Given the description of an element on the screen output the (x, y) to click on. 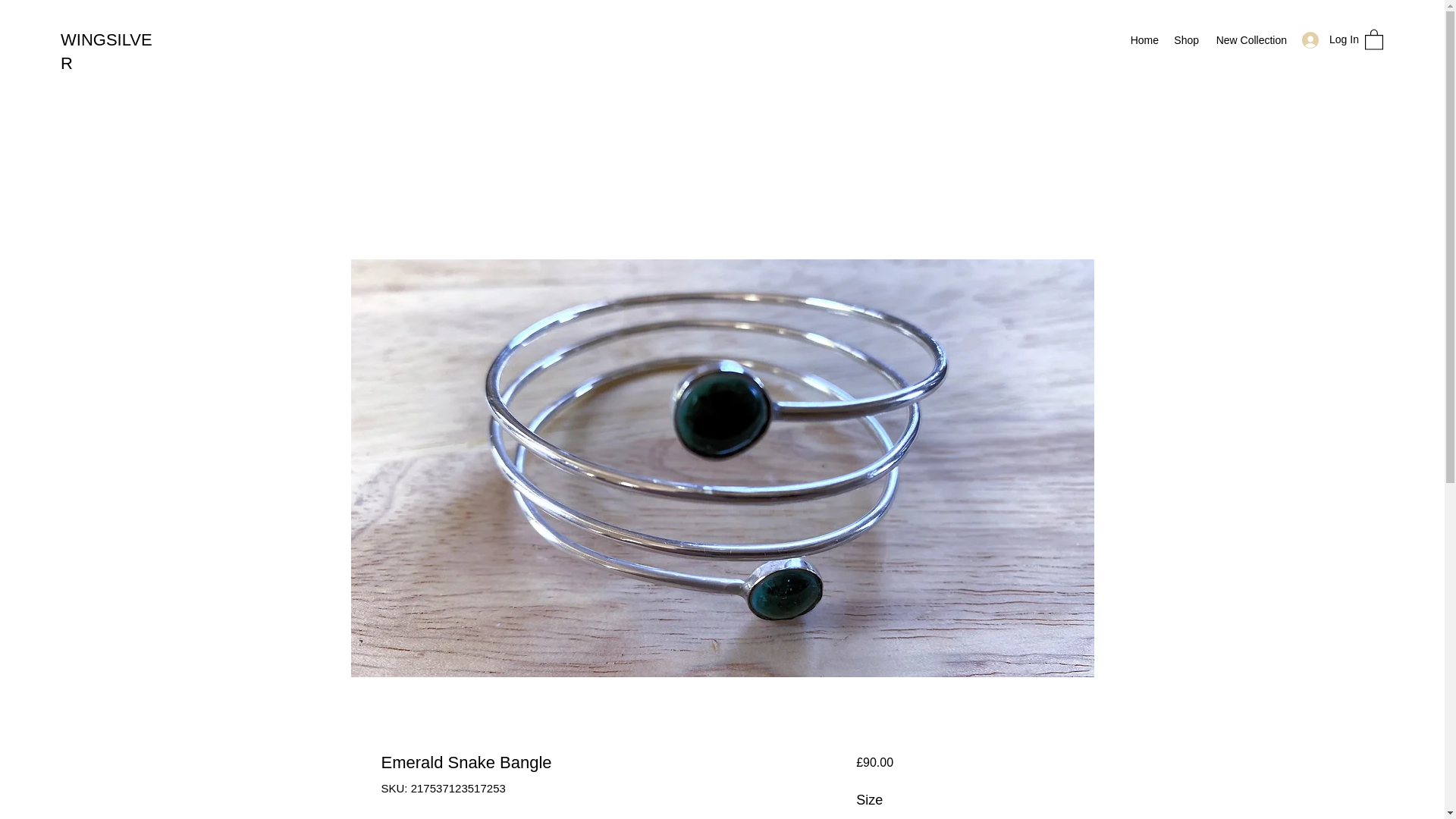
Home (1144, 39)
WINGSILVER (106, 51)
Log In (1325, 39)
New Collection (1250, 39)
Shop (1186, 39)
